Given the description of an element on the screen output the (x, y) to click on. 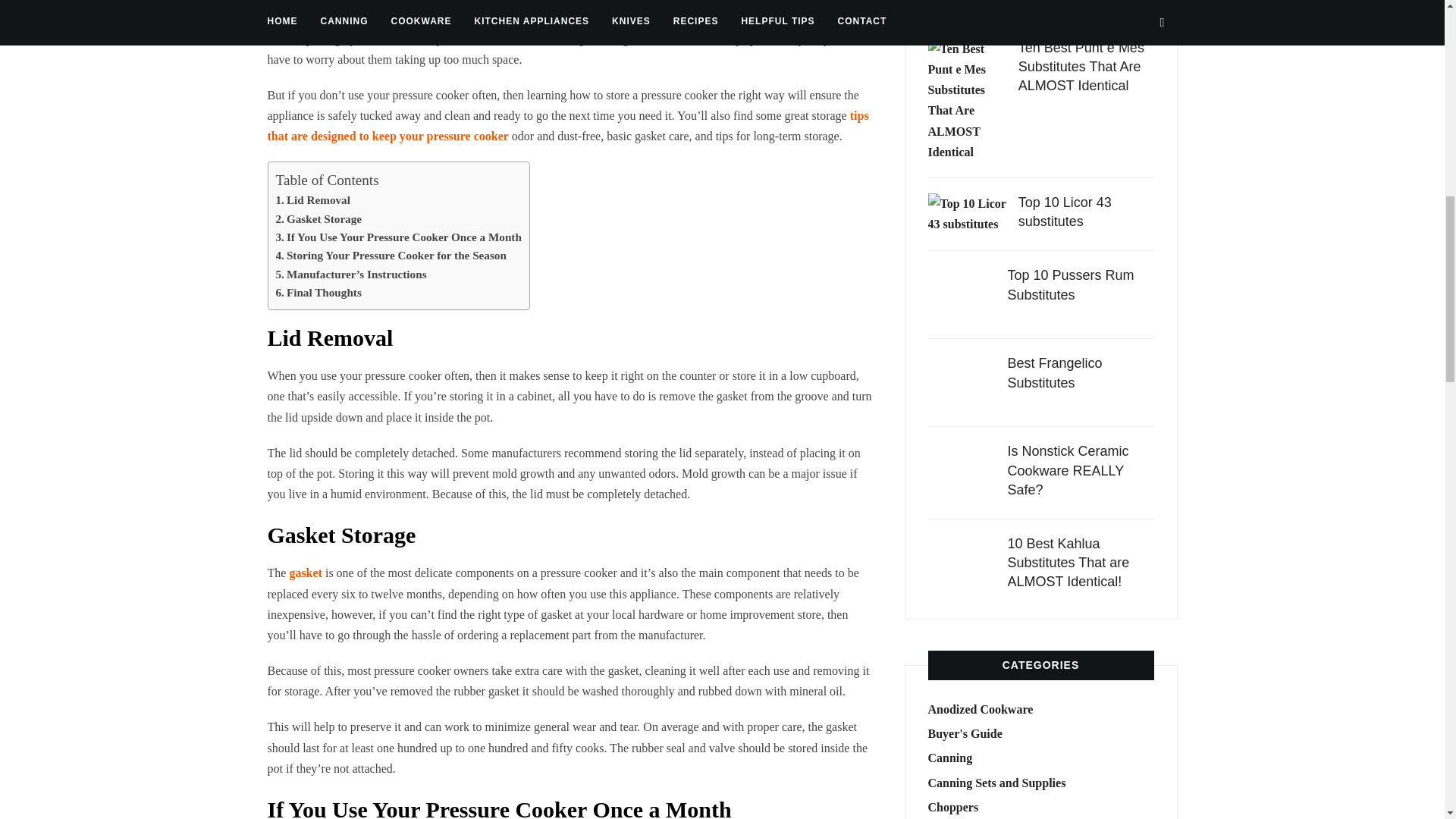
Storing Your Pressure Cooker for the Season (391, 254)
Lid Removal (313, 199)
Final Thoughts (318, 291)
If You Use Your Pressure Cooker Once a Month (398, 236)
Gasket Storage (319, 218)
